Given the description of an element on the screen output the (x, y) to click on. 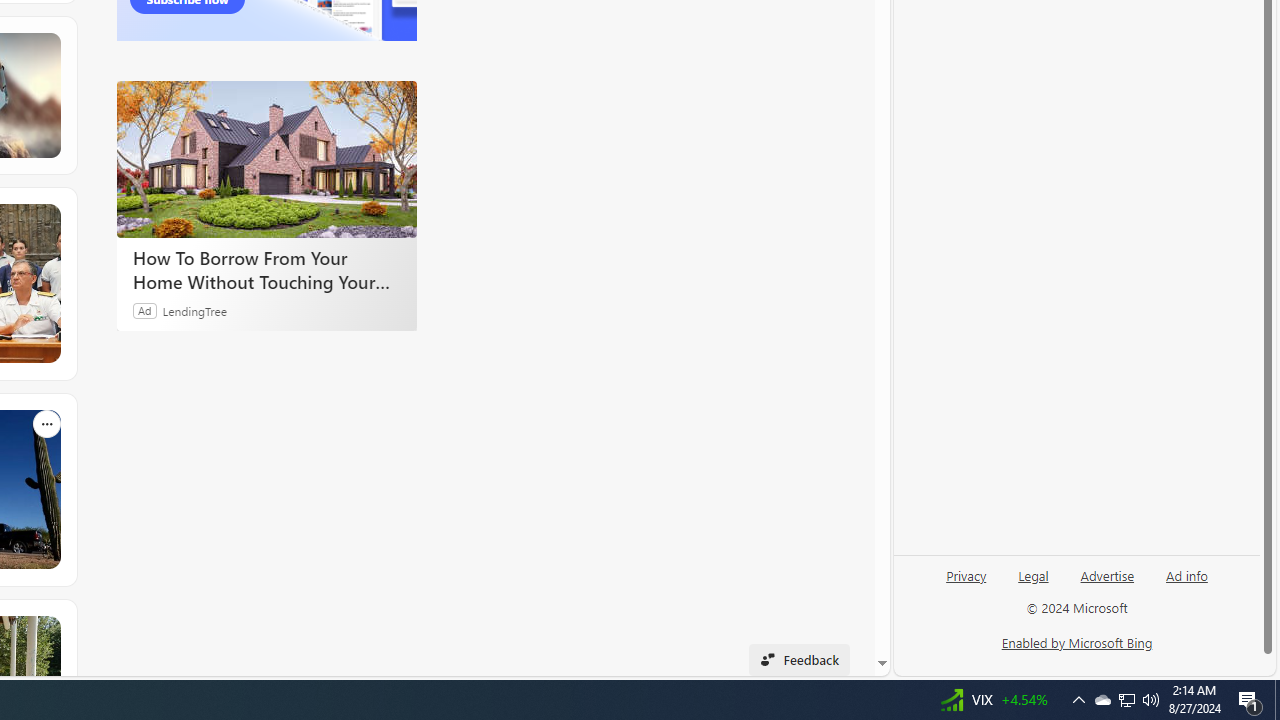
LendingTree (194, 309)
Advertise (1107, 574)
Legal (1033, 574)
Feedback (798, 659)
Advertise (1106, 583)
How To Borrow From Your Home Without Touching Your Mortgage (266, 269)
Legal (1033, 583)
Ad info (1187, 574)
Privacy (966, 583)
Privacy (965, 574)
Ad info (1186, 583)
How To Borrow From Your Home Without Touching Your Mortgage (266, 159)
